Given the description of an element on the screen output the (x, y) to click on. 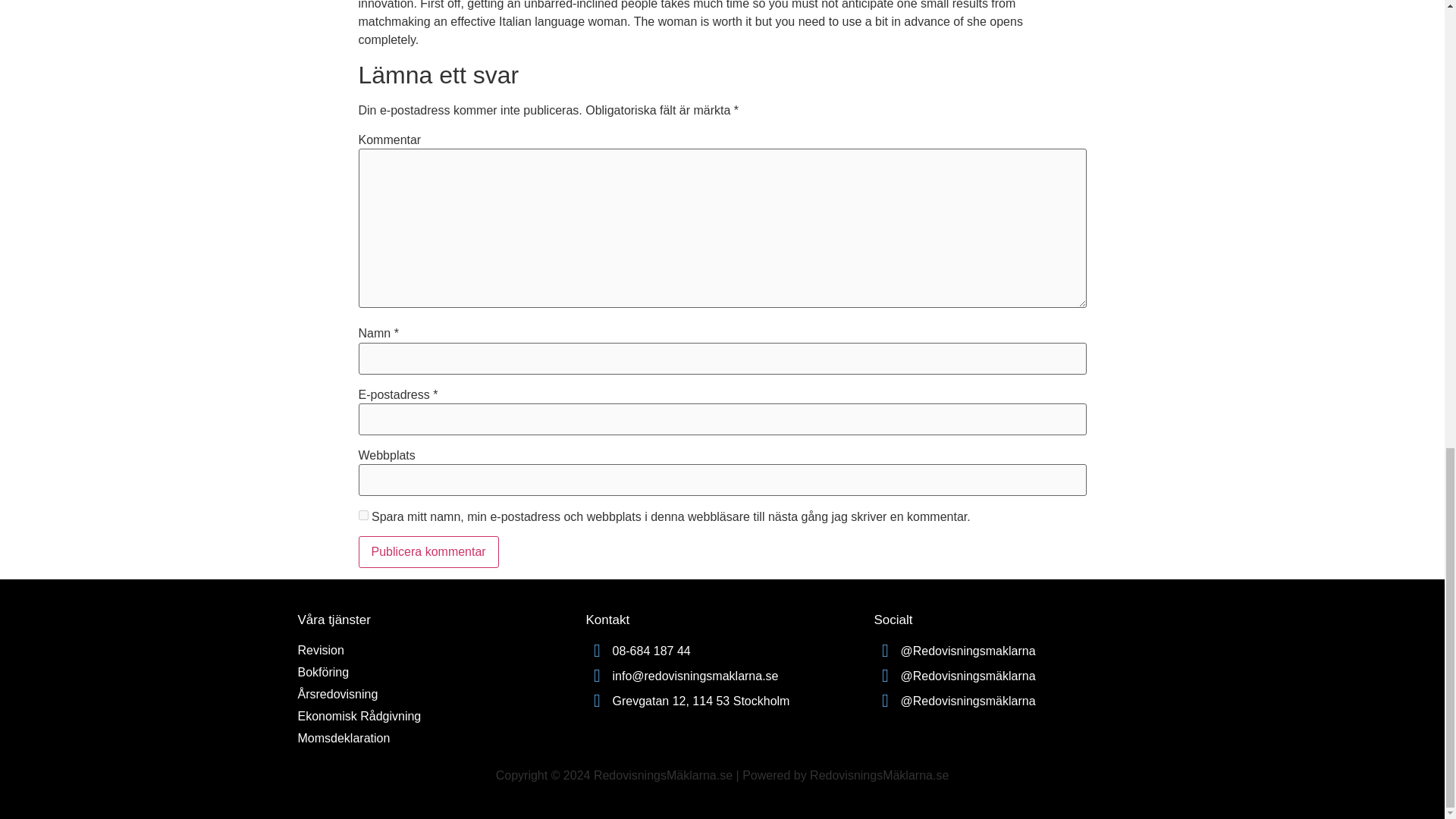
Publicera kommentar (427, 552)
08-684 187 44 (722, 651)
Publicera kommentar (427, 552)
Revision (320, 649)
yes (363, 515)
Momsdeklaration (343, 738)
Grevgatan 12, 114 53 Stockholm (722, 701)
